Given the description of an element on the screen output the (x, y) to click on. 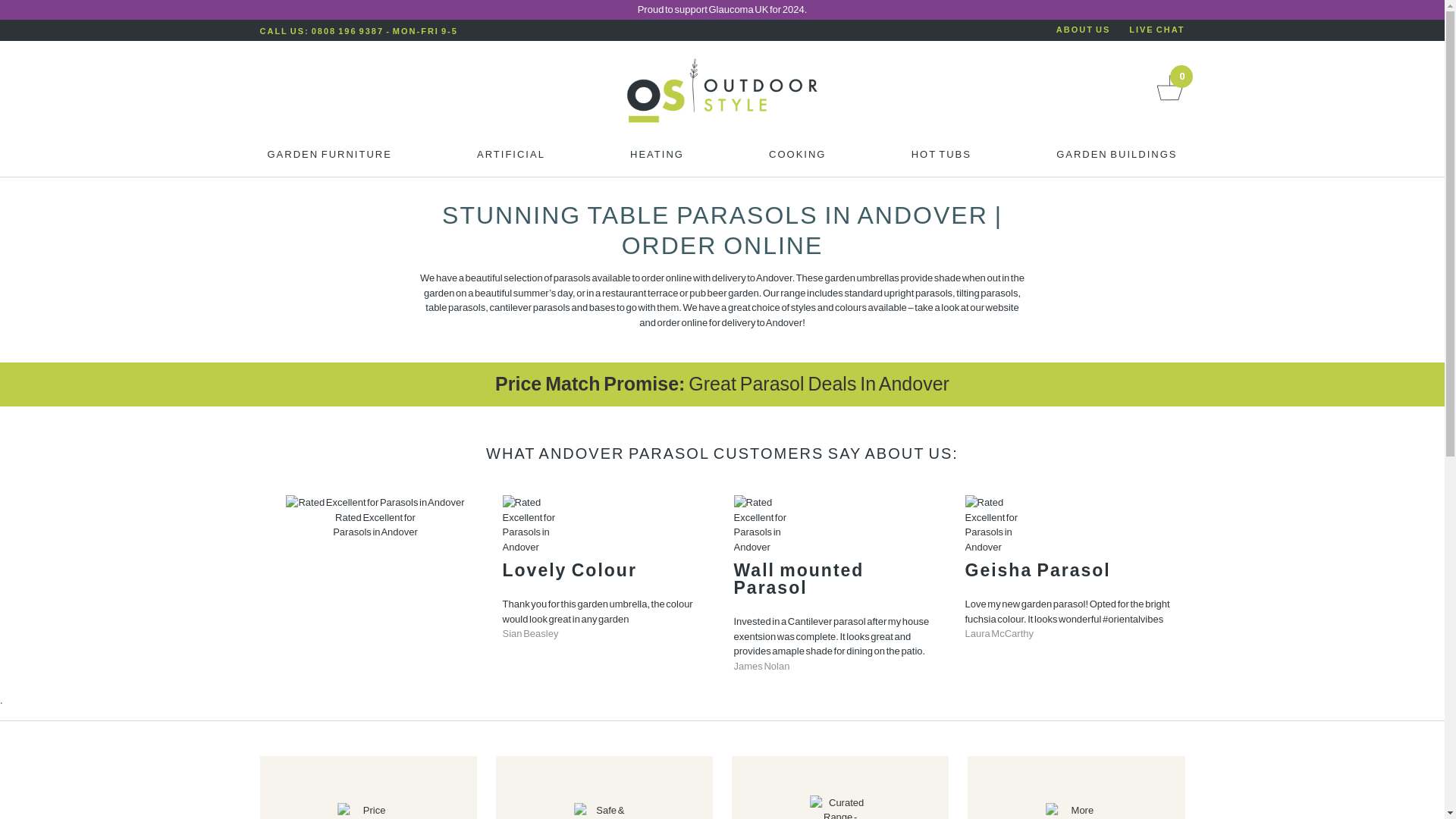
ARTIFICIAL (510, 158)
GARDEN FURNITURE (328, 158)
0 (1169, 99)
LIVE CHAT (1157, 29)
HEATING (657, 158)
ABOUT US (1083, 29)
CALL US: 0808 196 9387 - MON-FRI 9-5 (358, 31)
